Given the description of an element on the screen output the (x, y) to click on. 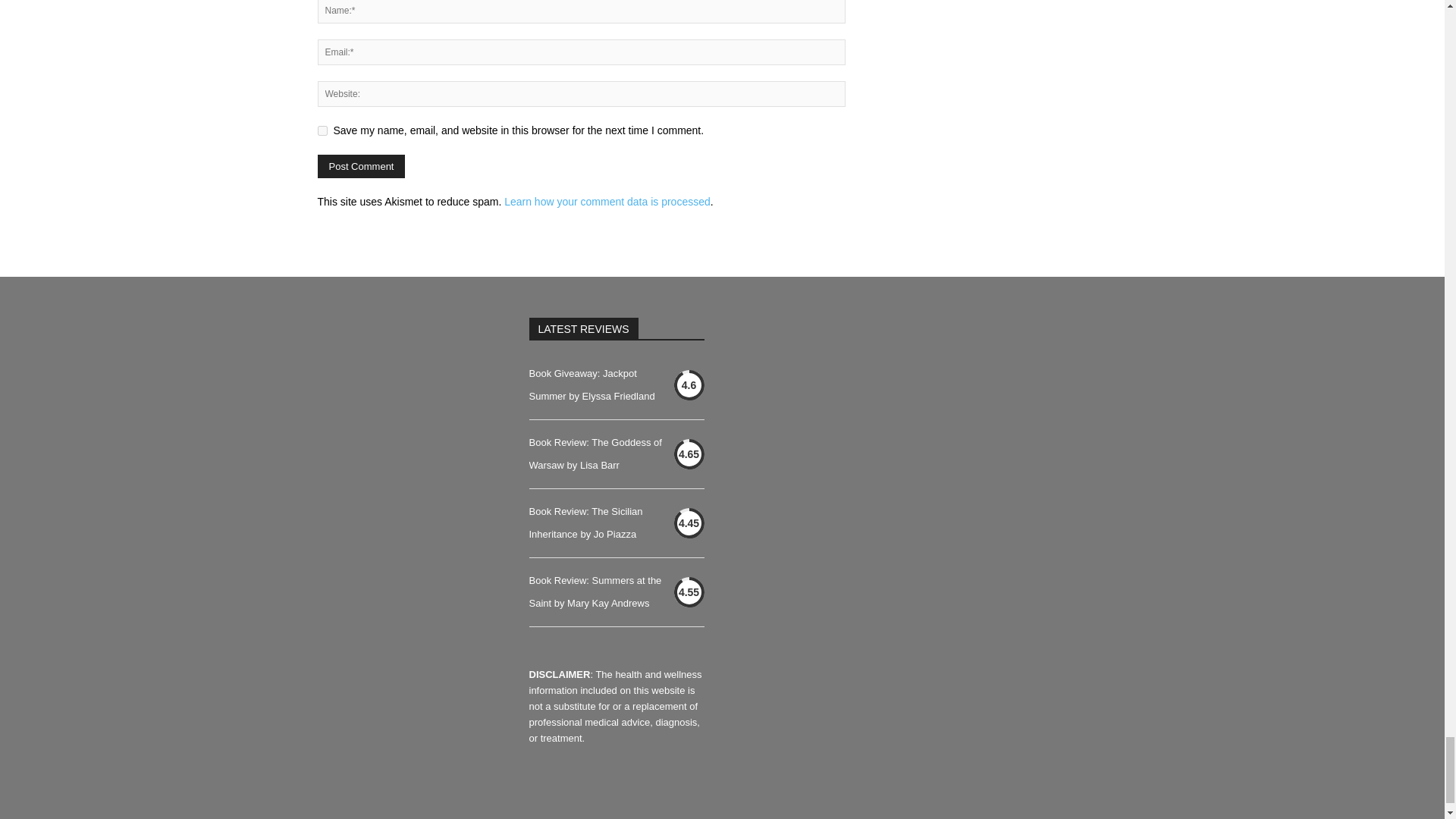
Post Comment (360, 166)
yes (321, 130)
